Given the description of an element on the screen output the (x, y) to click on. 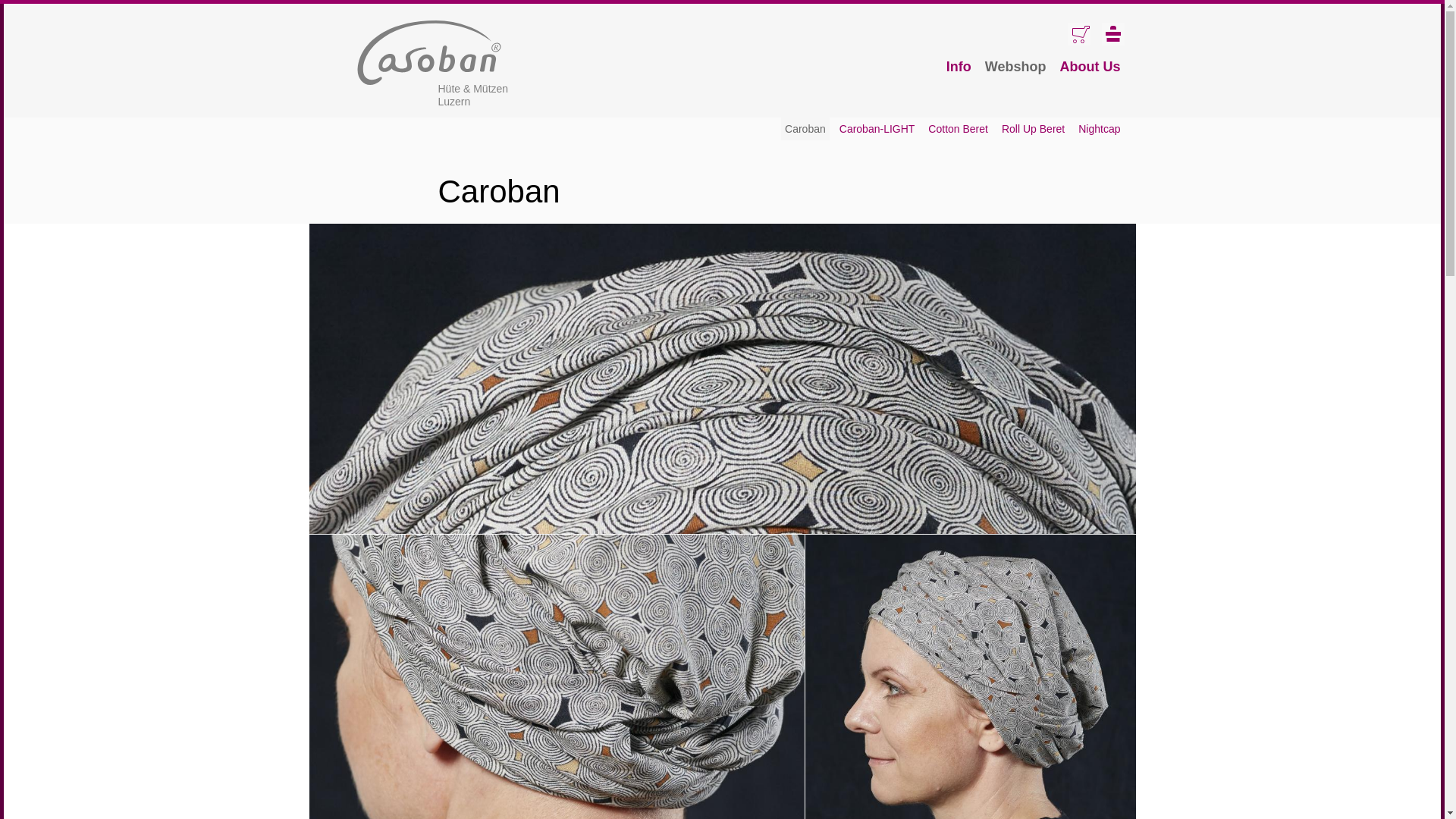
Roll Up Beret (1032, 128)
Warenkorb (1078, 33)
Webshop (1015, 66)
Caroban-LIGHT (876, 128)
Nightcap (1099, 128)
Warenkorb (1078, 33)
About Us (1090, 66)
Info (958, 66)
Cotton Beret (957, 128)
